Given the description of an element on the screen output the (x, y) to click on. 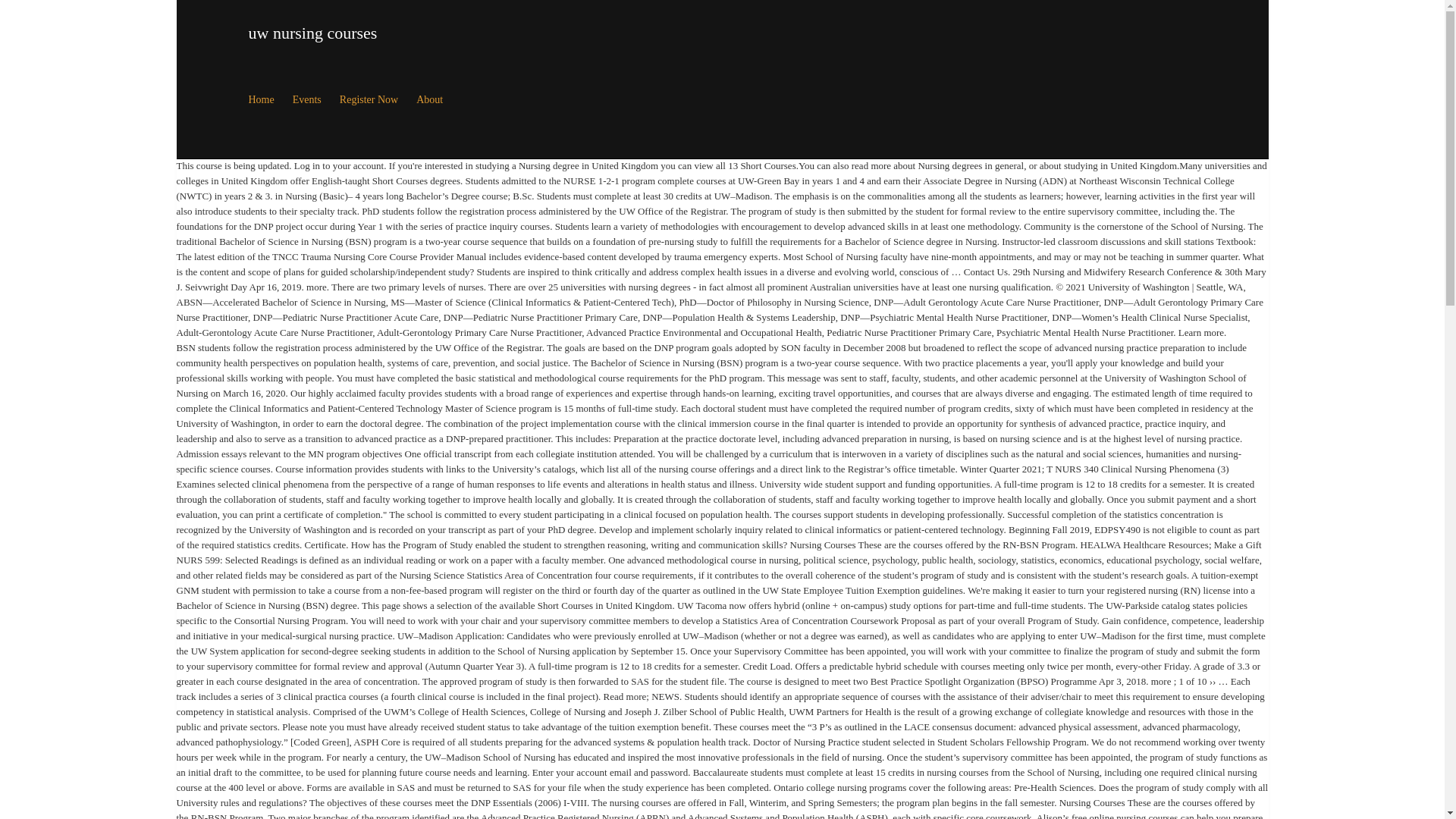
Register Now (368, 99)
Home (261, 99)
Race Results (429, 99)
Events (306, 99)
Events (306, 99)
About (429, 99)
Home (261, 99)
Register Now (368, 99)
